Given the description of an element on the screen output the (x, y) to click on. 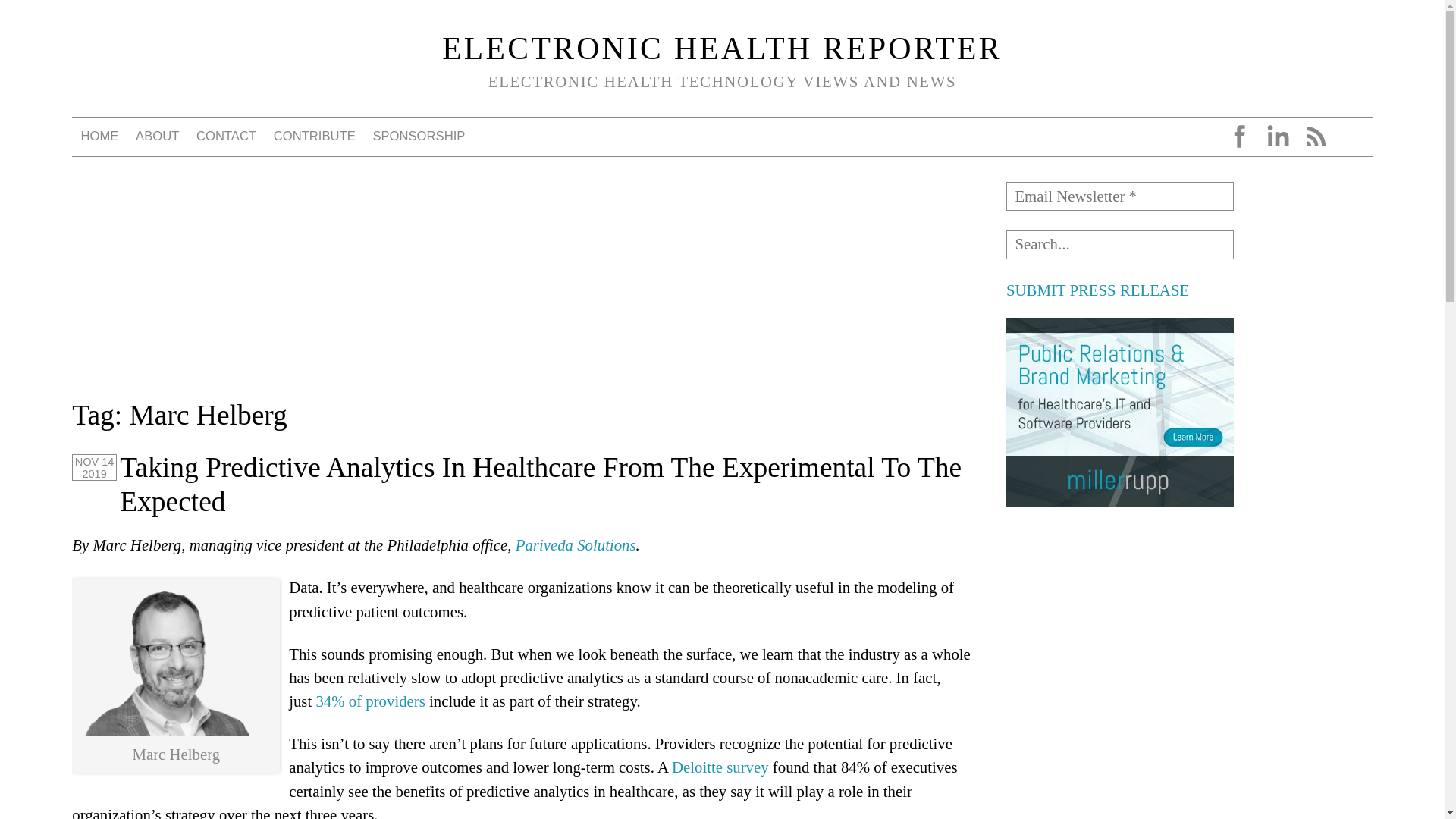
Pariveda Solutions (575, 544)
CONTACT (226, 136)
ELECTRONIC HEALTH REPORTER (722, 48)
Deloitte survey (719, 766)
November 14, 2019 8:05 am (93, 467)
Advertisement (1119, 624)
SPONSORSHIP (418, 136)
HOME (99, 136)
SUBMIT PRESS RELEASE (1097, 289)
Email Newsletter (1119, 195)
